Given the description of an element on the screen output the (x, y) to click on. 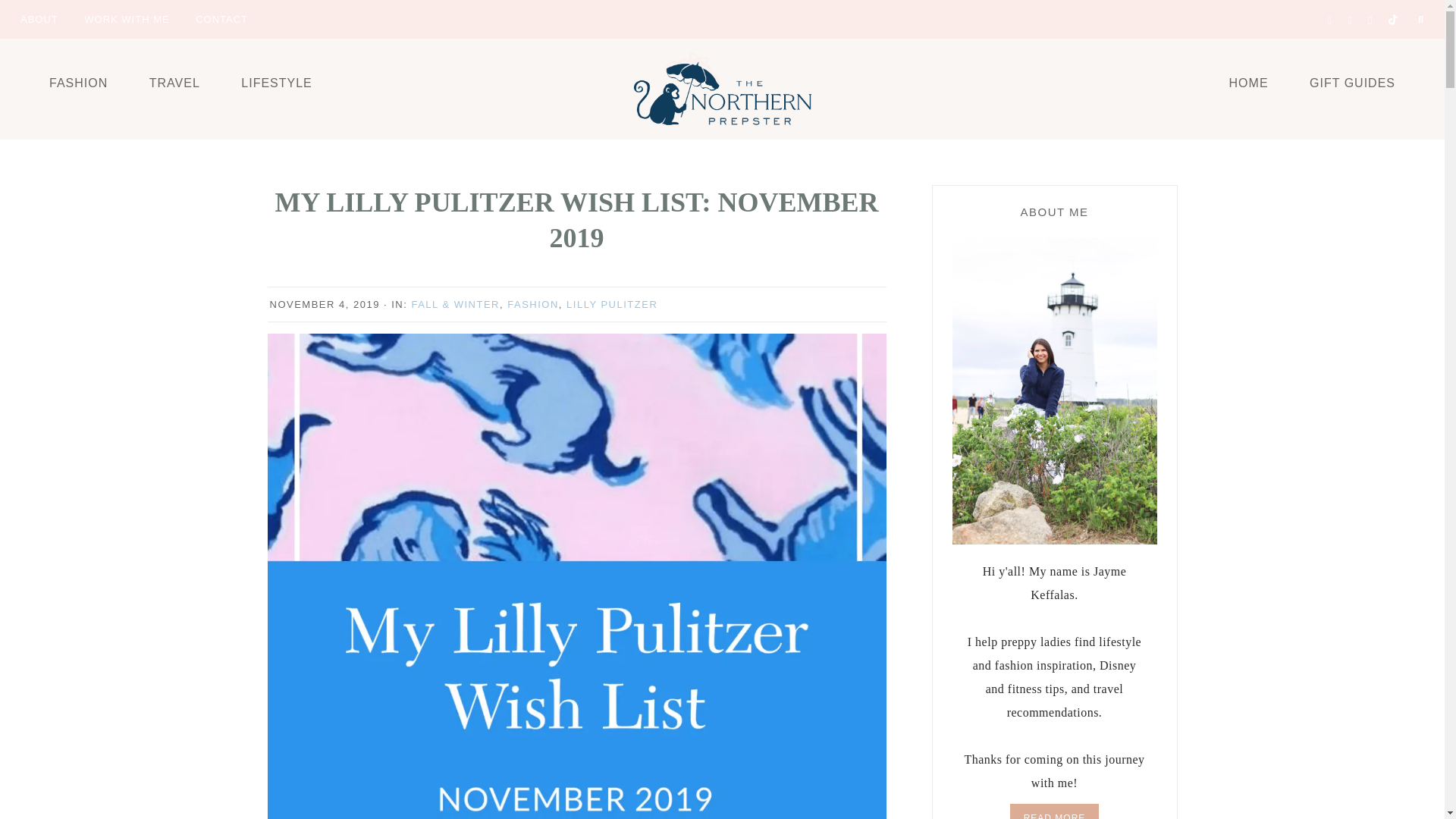
CONTACT (221, 18)
WORK WITH ME (126, 18)
ABOUT (38, 18)
